Given the description of an element on the screen output the (x, y) to click on. 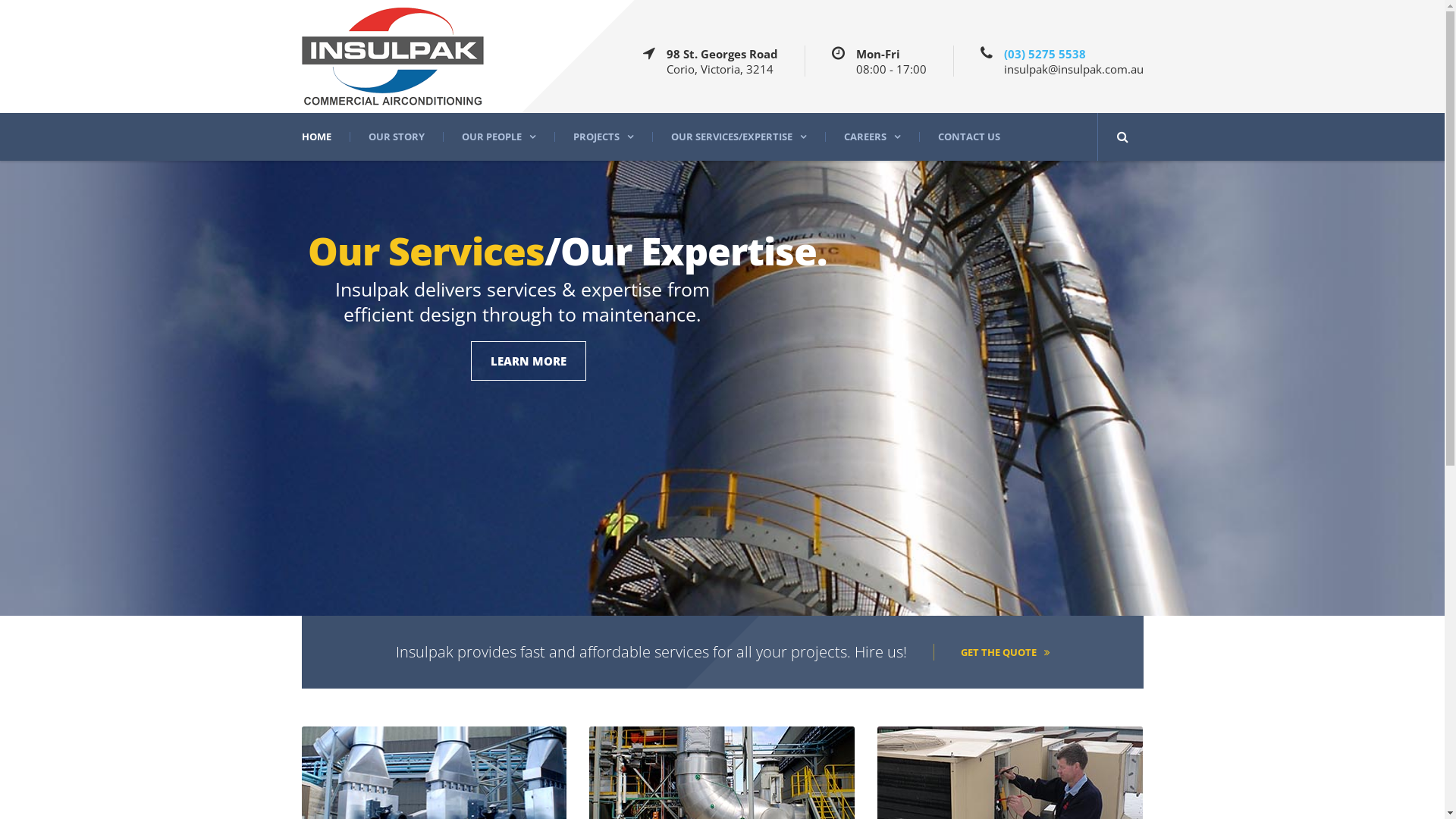
OUR SERVICES/EXPERTISE Element type: text (738, 136)
OUR STORY Element type: text (395, 136)
LEARN MORE Element type: text (527, 360)
GET THE QUOTE Element type: text (990, 651)
CAREERS Element type: text (872, 136)
CONTACT US Element type: text (968, 136)
OUR PEOPLE Element type: text (498, 136)
PROJECTS Element type: text (602, 136)
HOME Element type: text (325, 136)
